Given the description of an element on the screen output the (x, y) to click on. 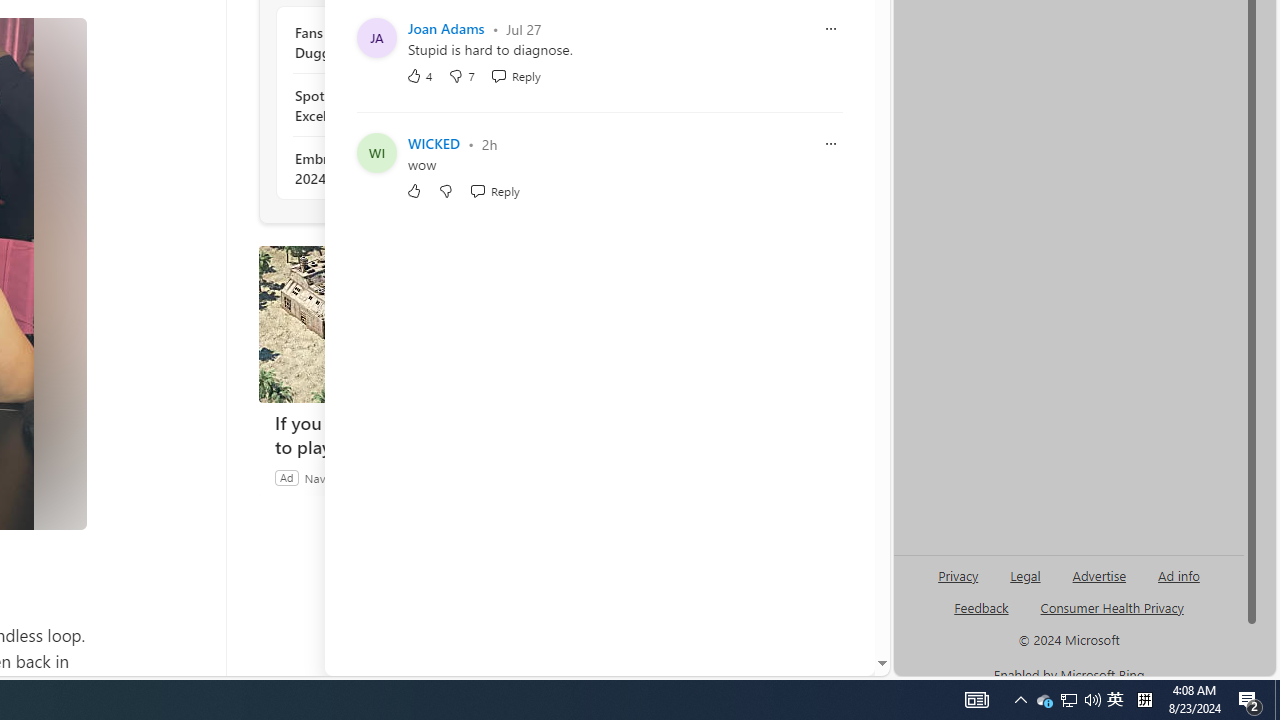
AutomationID: genId96 (981, 615)
4 Like (419, 75)
Report comment (831, 143)
Fans React to Shocking Detail in Duggar Family Wedding Photo (403, 43)
Like (414, 191)
If you have a mouse, you have to play this game. (408, 324)
Profile Picture (376, 152)
Joan Adams (446, 28)
Reply Reply Comment (494, 191)
